Given the description of an element on the screen output the (x, y) to click on. 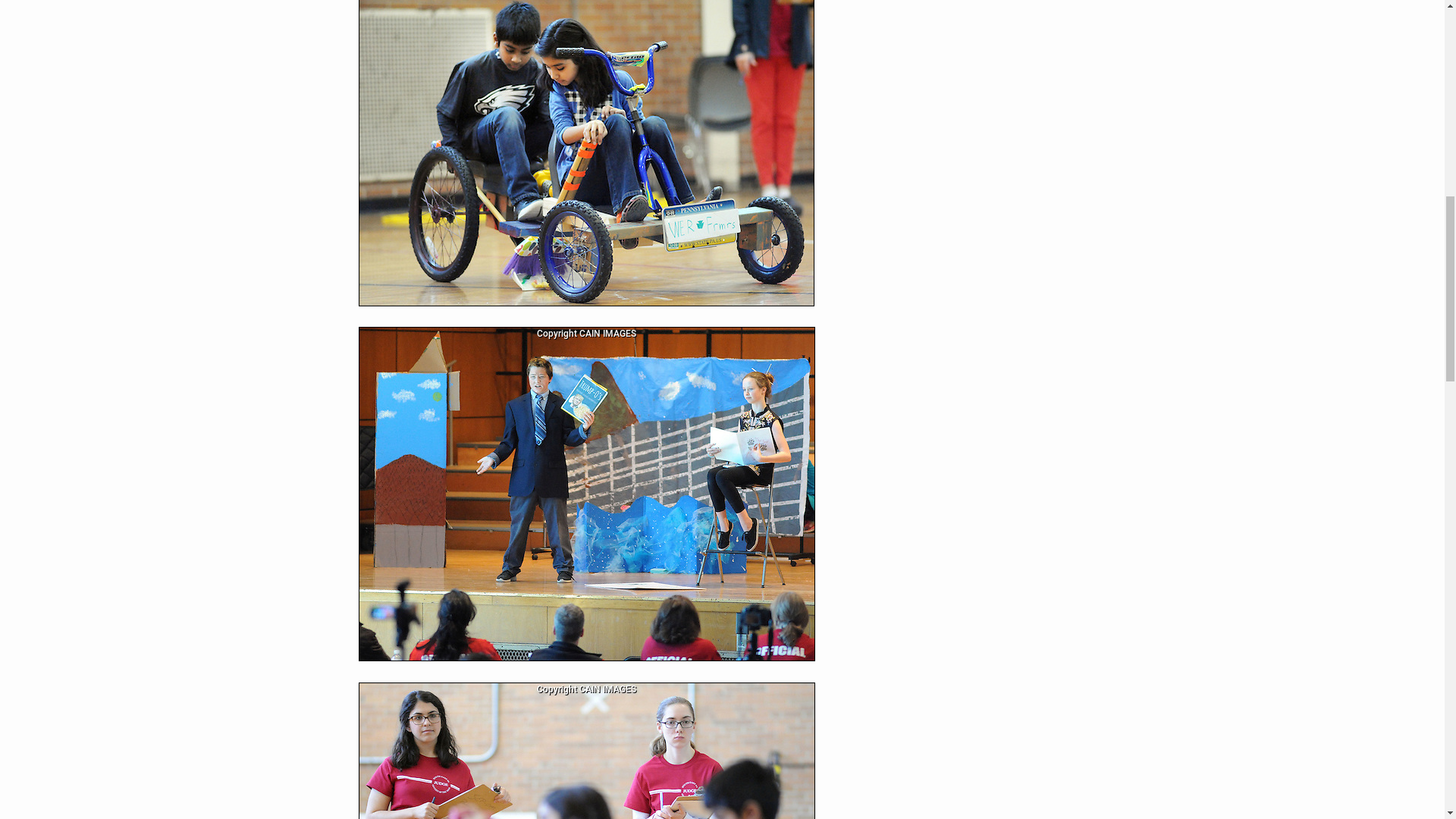
Southeast Pennsylvania Odyssey of the Mind tournament (585, 750)
